Given the description of an element on the screen output the (x, y) to click on. 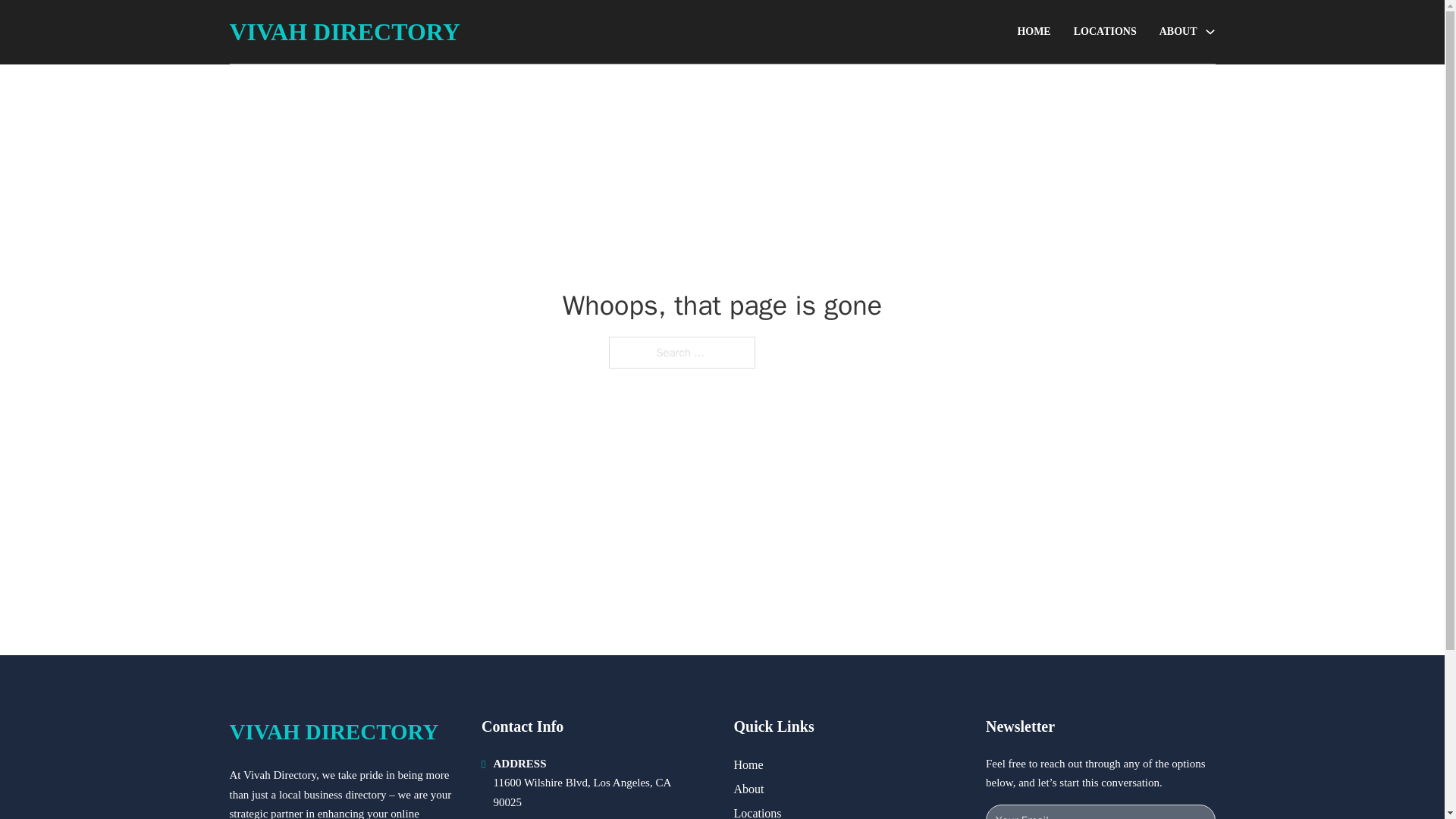
About (748, 788)
HOME (1032, 31)
Locations (757, 811)
Home (747, 764)
11600 Wilshire Blvd, Los Angeles, CA 90025 (581, 792)
VIVAH DIRECTORY (333, 732)
LOCATIONS (1105, 31)
VIVAH DIRECTORY (344, 31)
